Given the description of an element on the screen output the (x, y) to click on. 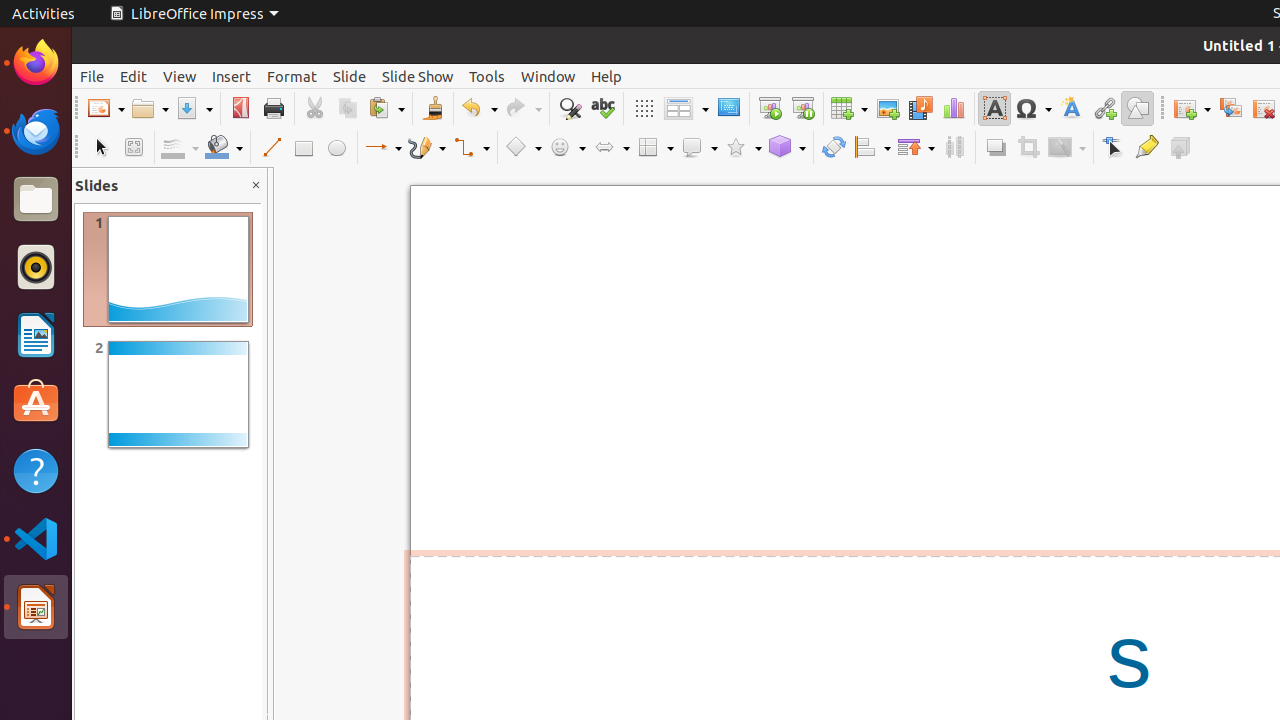
Redo Element type: push-button (523, 108)
New Slide Element type: push-button (1192, 108)
Start from First Slide Element type: push-button (769, 108)
Distribution Element type: push-button (954, 147)
Rectangle Element type: push-button (303, 147)
